Given the description of an element on the screen output the (x, y) to click on. 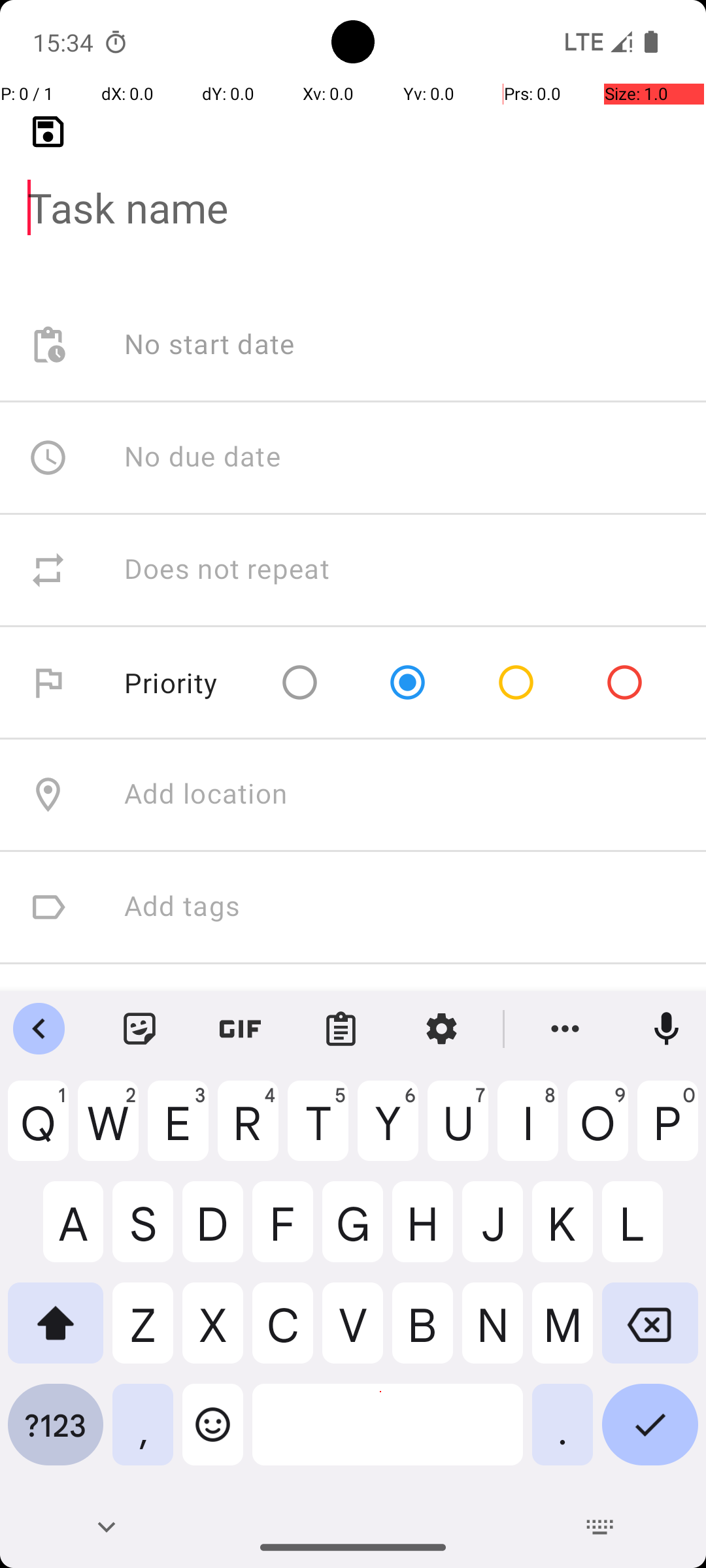
Task name Element type: android.widget.EditText (353, 186)
No due date Element type: android.widget.TextView (202, 457)
No start date Element type: android.widget.TextView (209, 344)
